Given the description of an element on the screen output the (x, y) to click on. 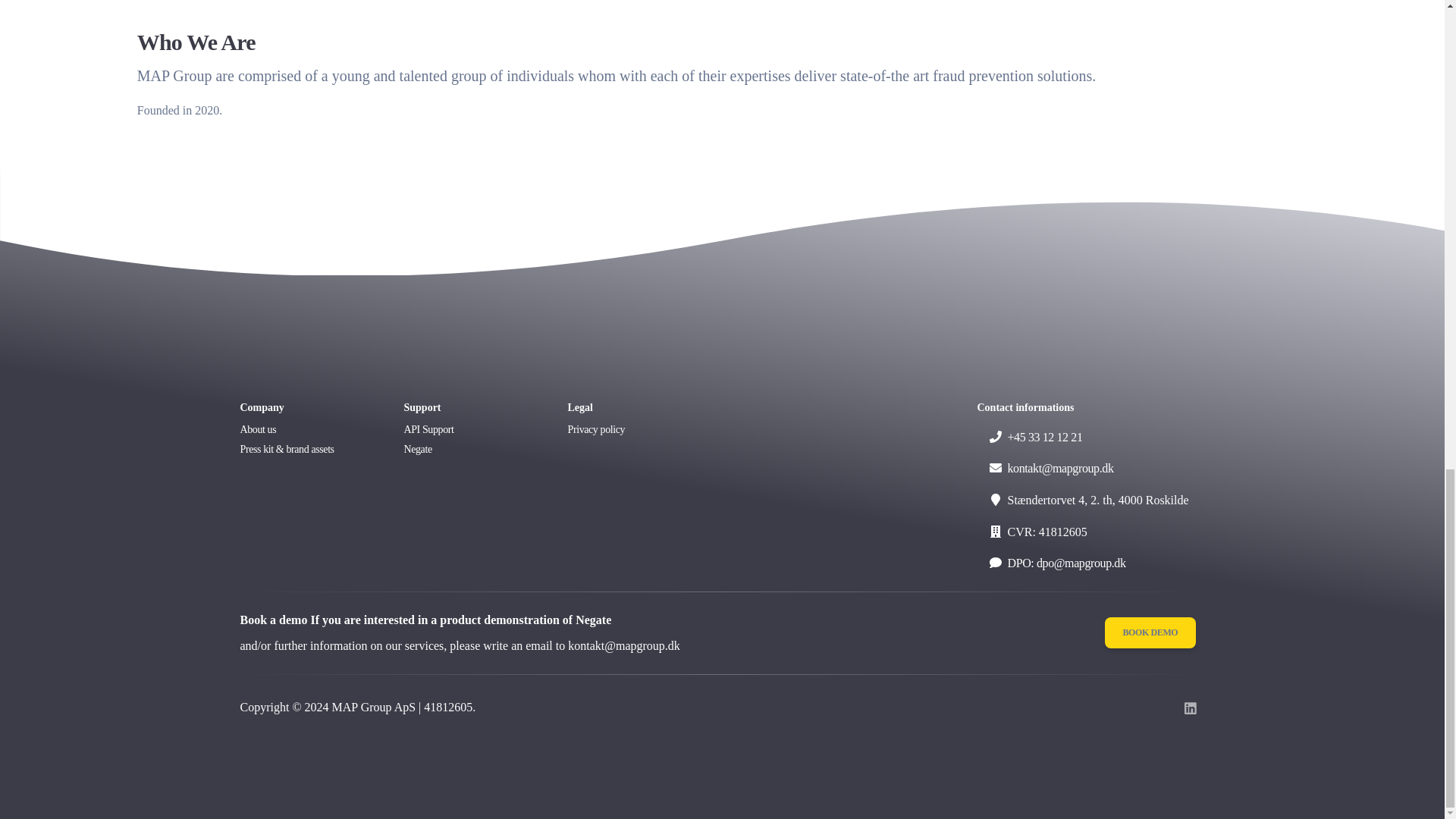
Negate (469, 451)
BOOK DEMO (1149, 632)
About us (306, 431)
Privacy policy (633, 431)
API Support (469, 431)
